Given the description of an element on the screen output the (x, y) to click on. 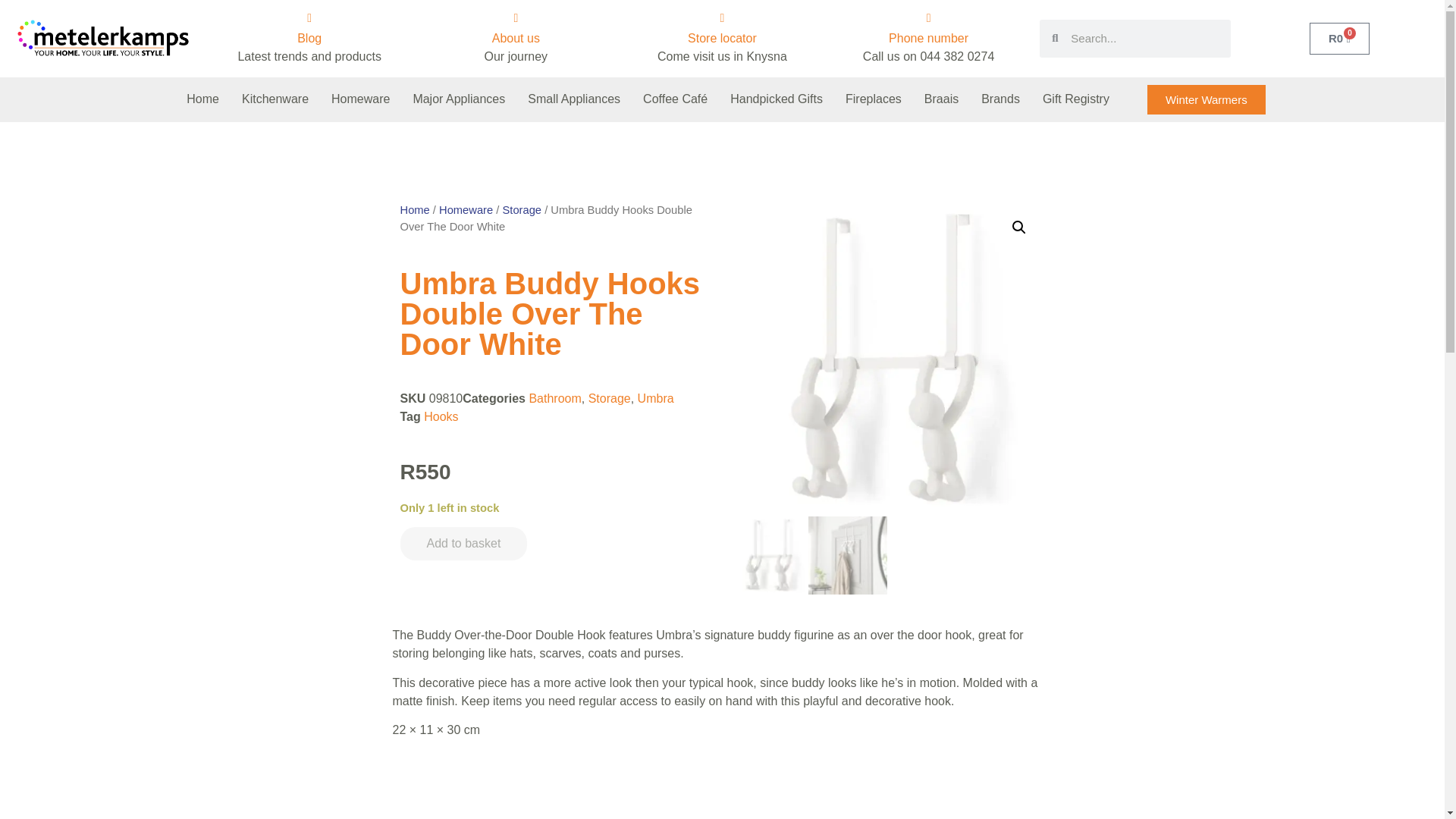
Umbra Buddy Hooks Double Over The Door White (886, 358)
